Given the description of an element on the screen output the (x, y) to click on. 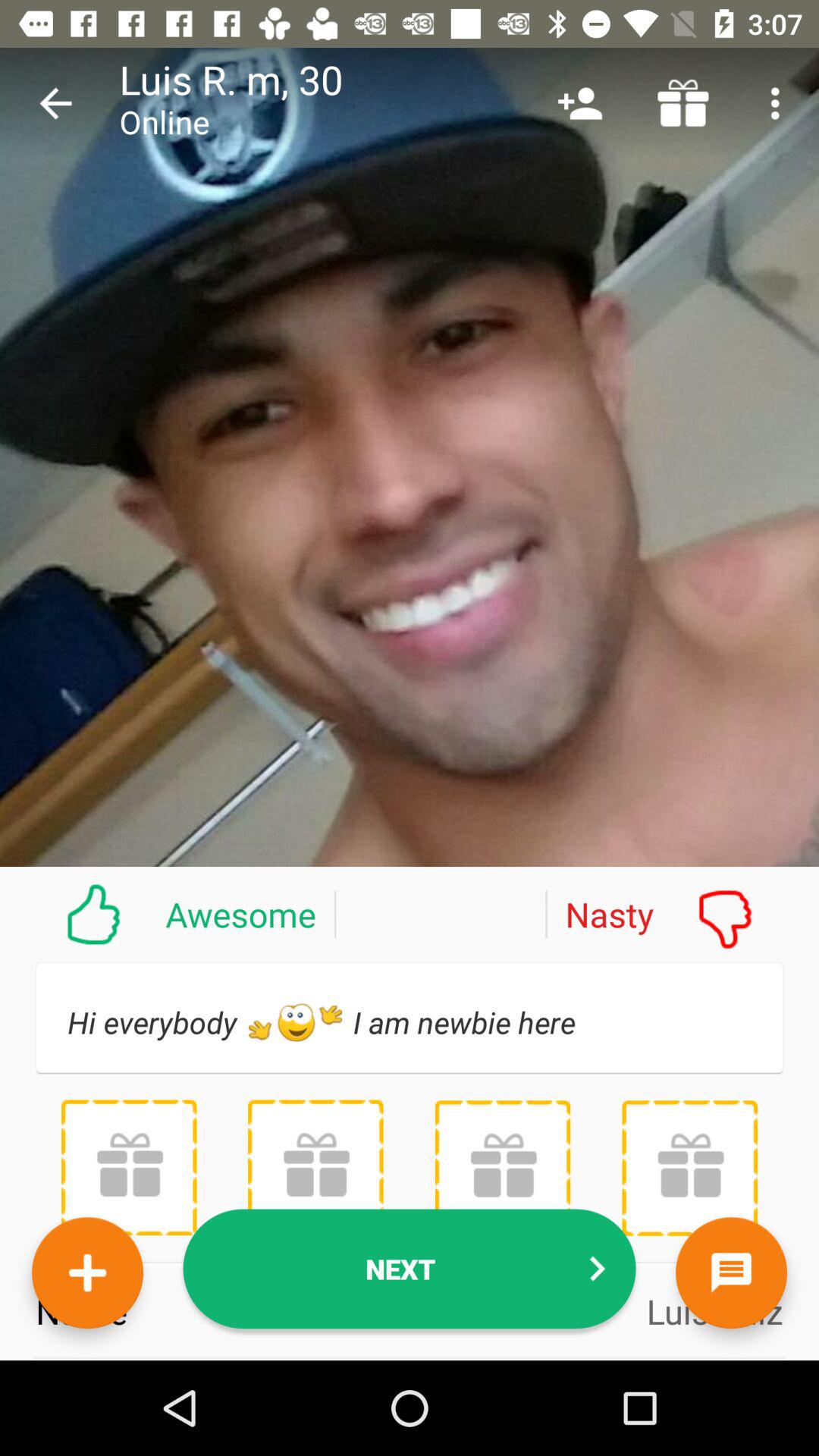
send a message (731, 1272)
